Given the description of an element on the screen output the (x, y) to click on. 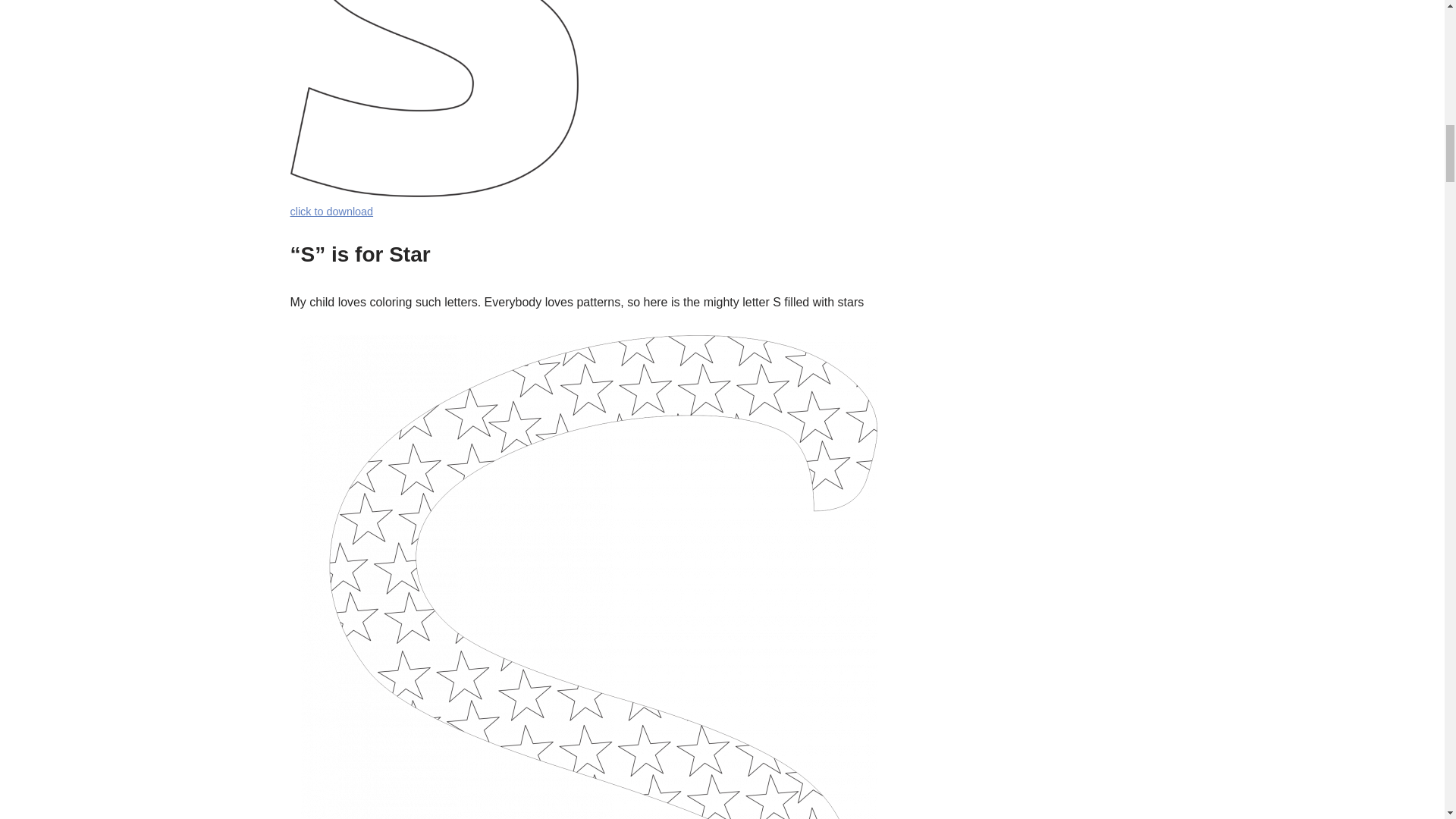
click to download (330, 211)
